Given the description of an element on the screen output the (x, y) to click on. 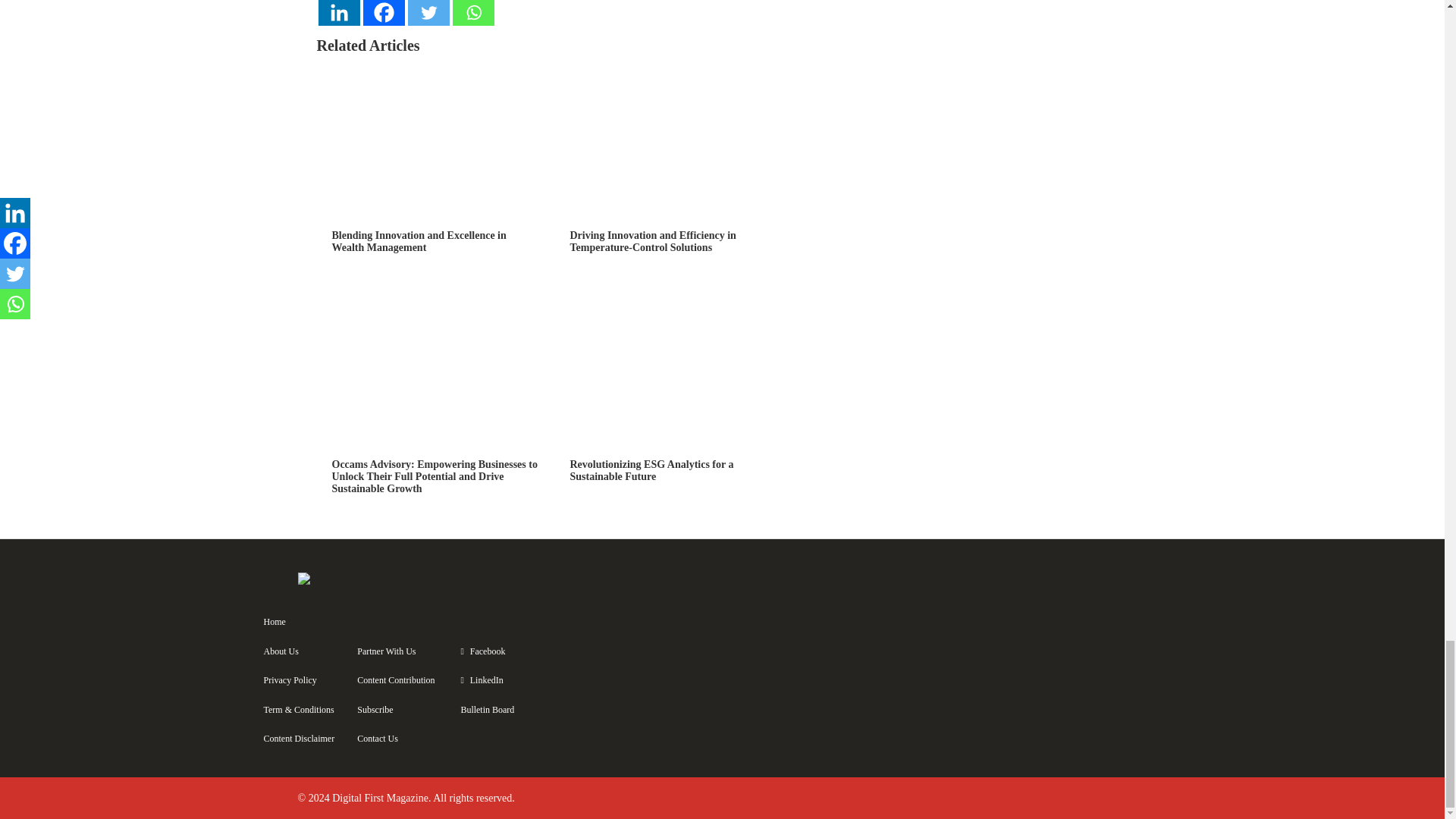
Linkedin (338, 12)
Twitter (428, 12)
Whatsapp (472, 12)
Facebook (383, 12)
